Given the description of an element on the screen output the (x, y) to click on. 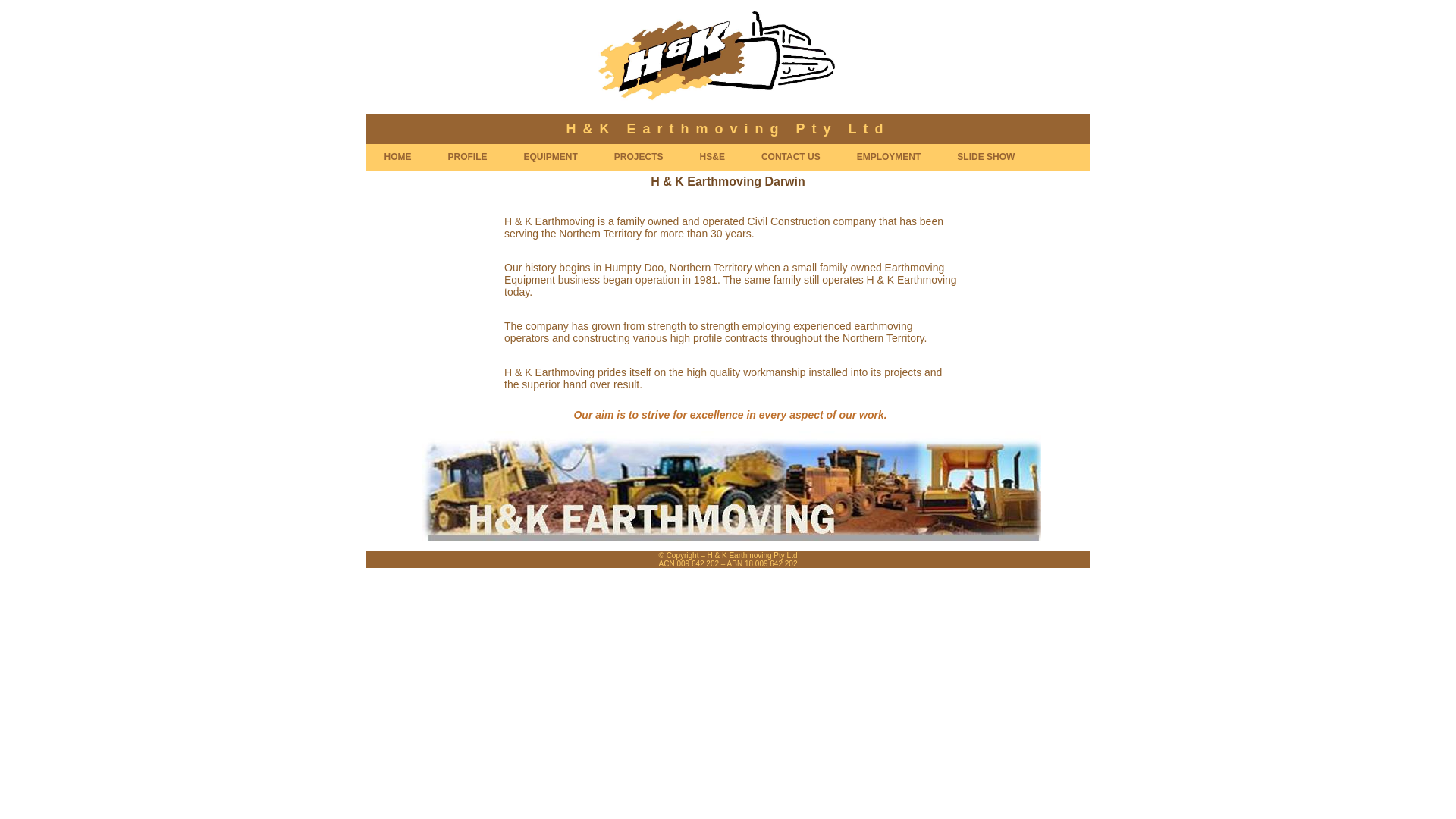
HS&E Element type: text (712, 157)
HOME Element type: text (397, 157)
PROJECTS Element type: text (638, 157)
PROFILE Element type: text (467, 157)
CONTACT US Element type: text (790, 157)
SLIDE SHOW Element type: text (985, 157)
EMPLOYMENT Element type: text (888, 157)
EQUIPMENT Element type: text (550, 157)
